Given the description of an element on the screen output the (x, y) to click on. 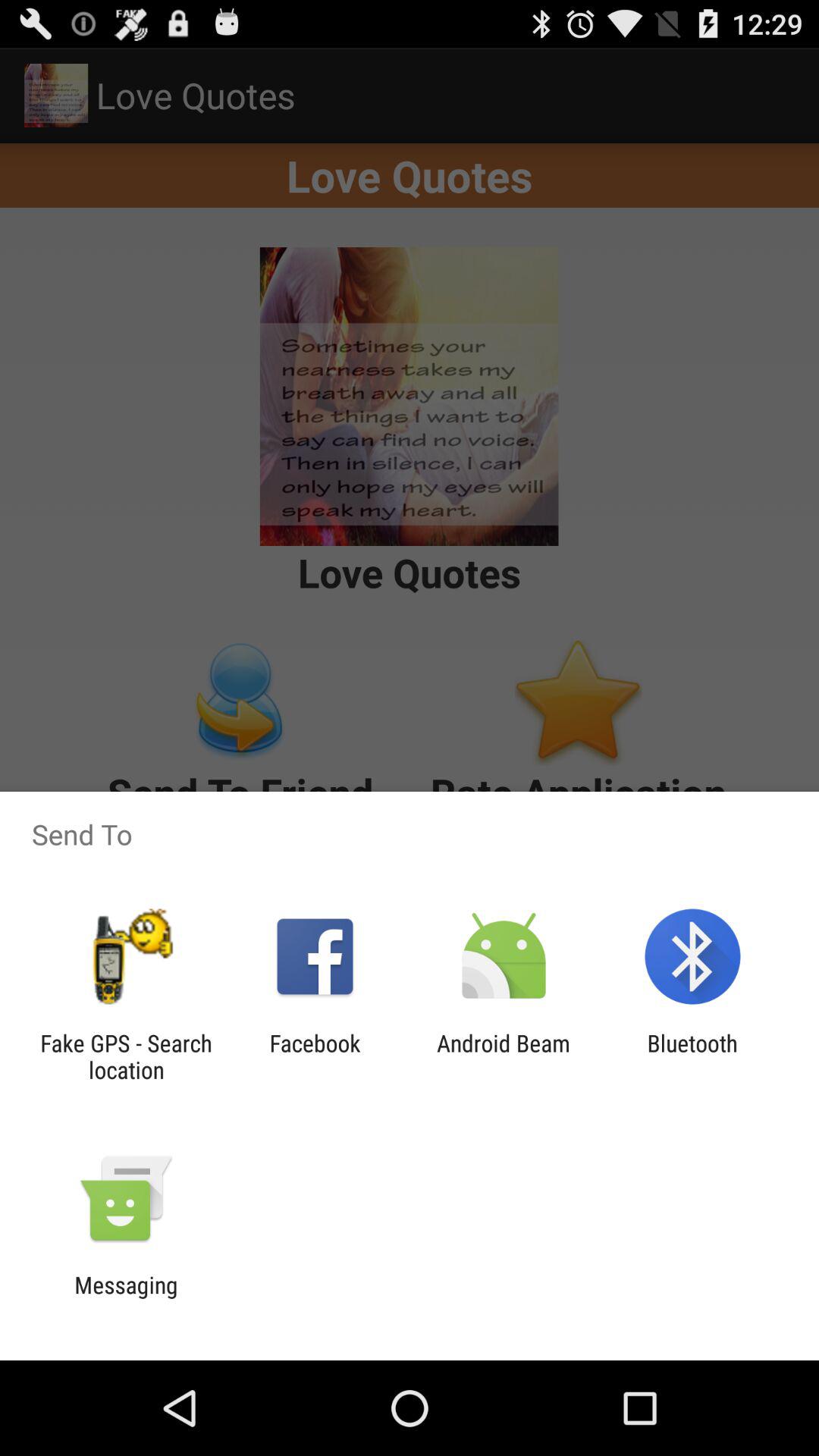
turn off the app to the right of the android beam icon (692, 1056)
